Given the description of an element on the screen output the (x, y) to click on. 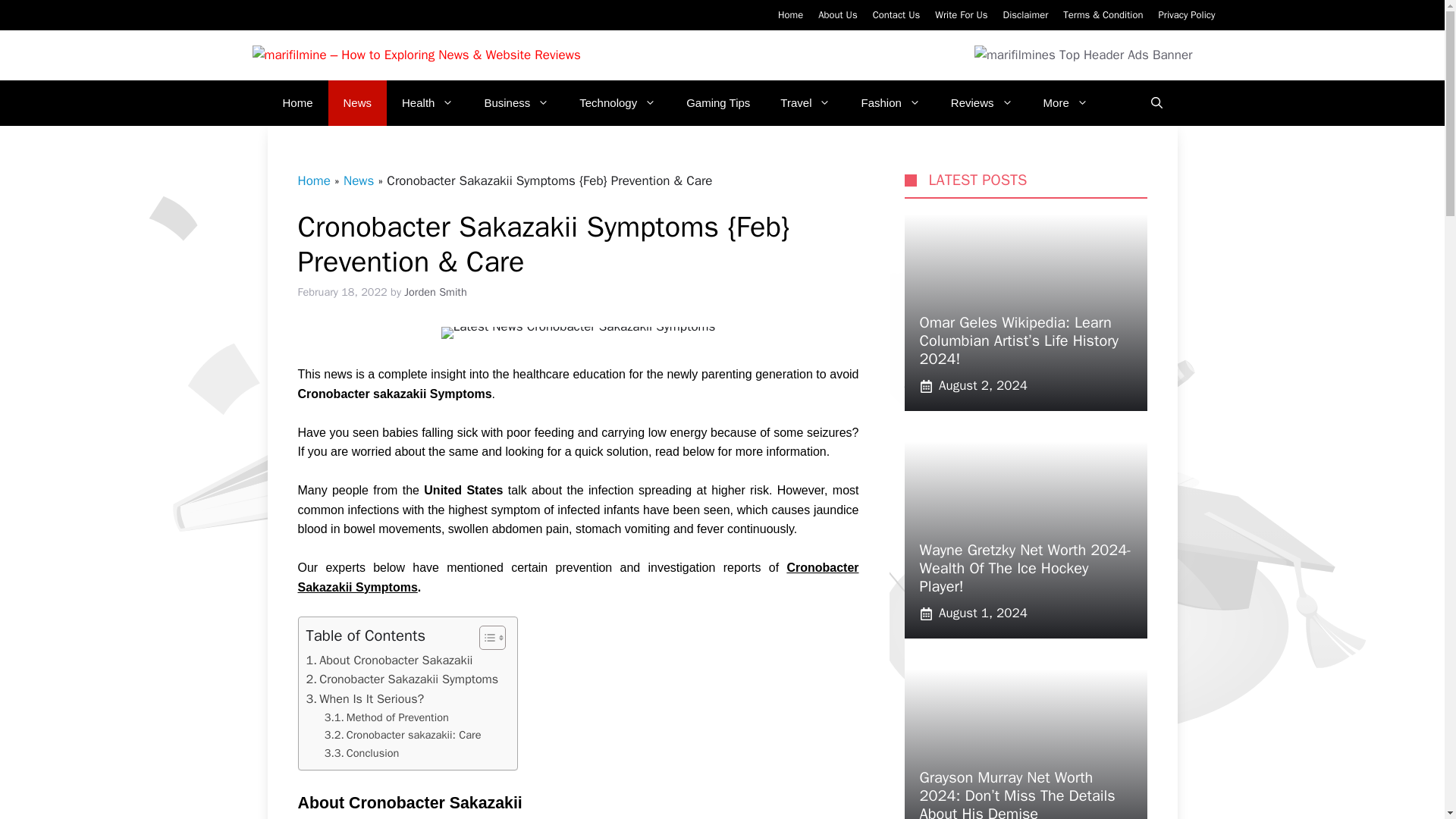
Disclaimer (1025, 14)
Business (516, 103)
Conclusion (361, 753)
Cronobacter sakazakii: Care (402, 734)
About Cronobacter Sakazakii (389, 660)
When Is It Serious? (365, 699)
Home (296, 103)
News (358, 103)
Travel (805, 103)
Fashion (889, 103)
Privacy Policy (1185, 14)
Method of Prevention (386, 717)
About Us (837, 14)
Contact Us (896, 14)
Reviews (981, 103)
